Given the description of an element on the screen output the (x, y) to click on. 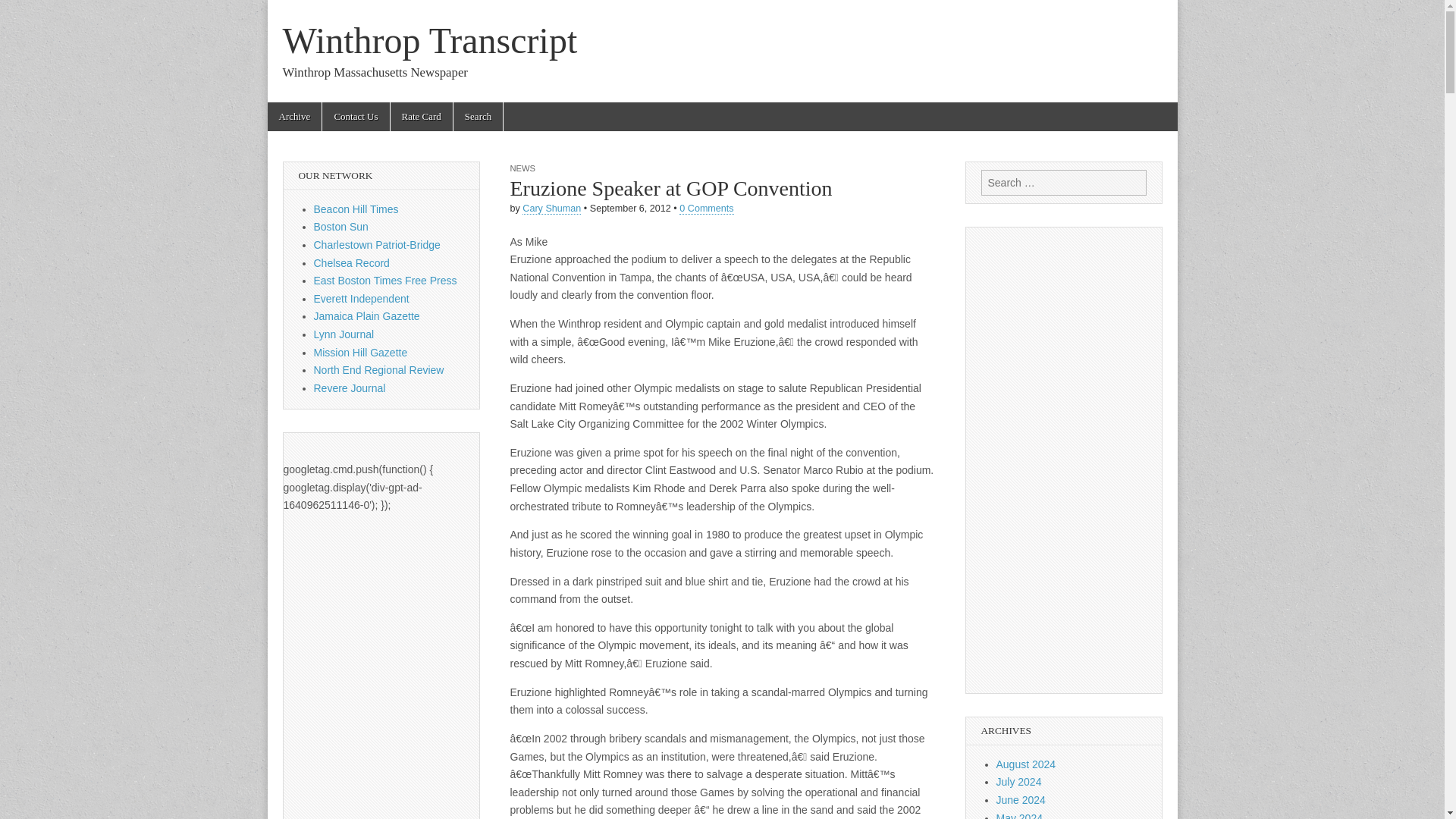
Jamaica Plain Gazette (367, 316)
Winthrop Transcript (429, 40)
Winthrop Transcript (429, 40)
Everett Independent (361, 298)
Boston Sun (341, 226)
Rate Card (421, 116)
Mission Hill Gazette (360, 352)
Chelsea Record (352, 263)
Search (23, 12)
Contact Us (354, 116)
